Given the description of an element on the screen output the (x, y) to click on. 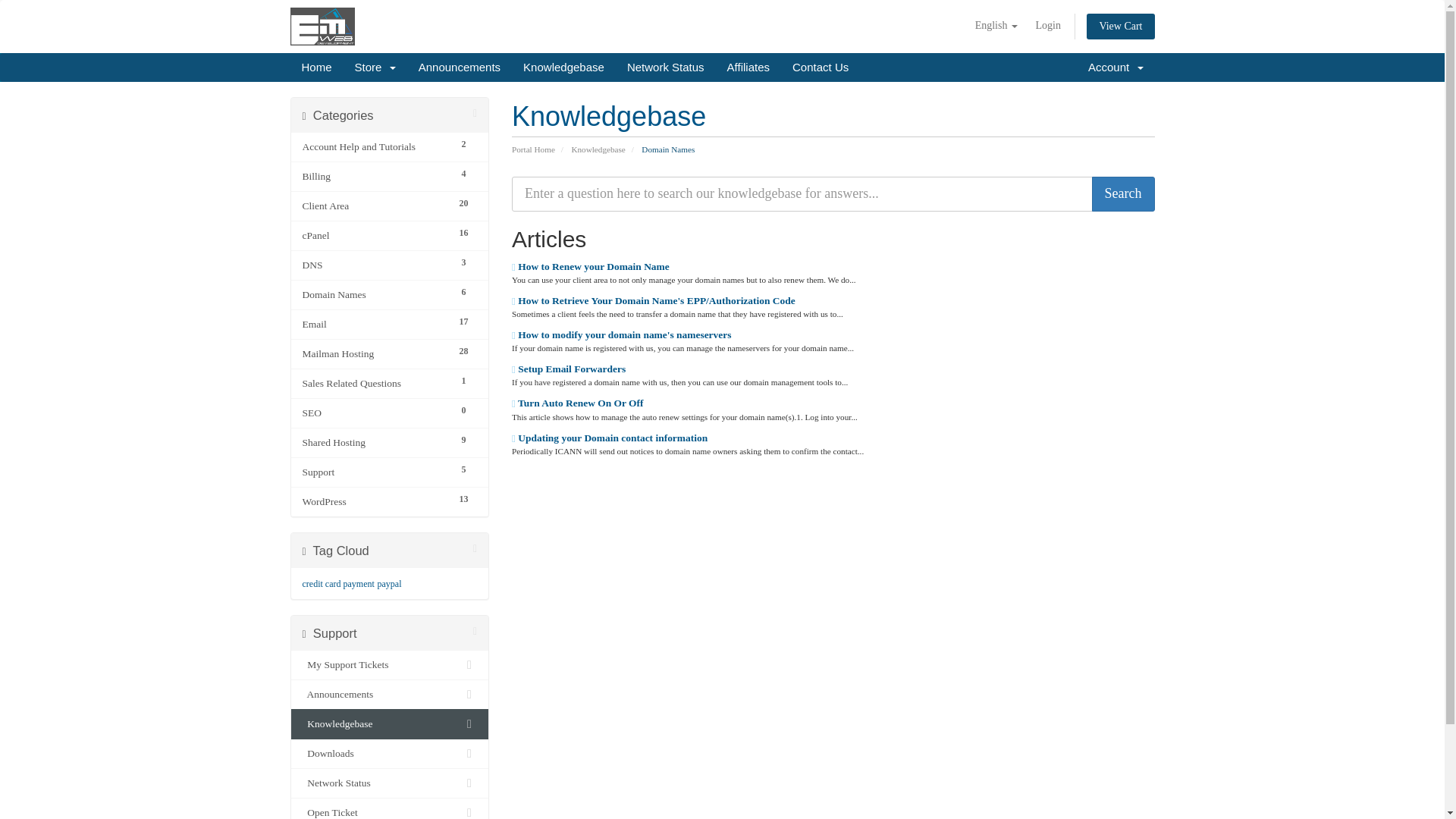
Email (375, 324)
WordPress (375, 502)
Billing (375, 176)
Login (1047, 25)
cPanel (375, 235)
Sales Related Questions (375, 383)
English (996, 25)
Home (315, 67)
Client Area (375, 206)
SEO (375, 413)
Domain Names (375, 294)
DNS (375, 265)
Search (1123, 193)
View Cart (1120, 26)
Account Help and Tutorials (375, 147)
